Given the description of an element on the screen output the (x, y) to click on. 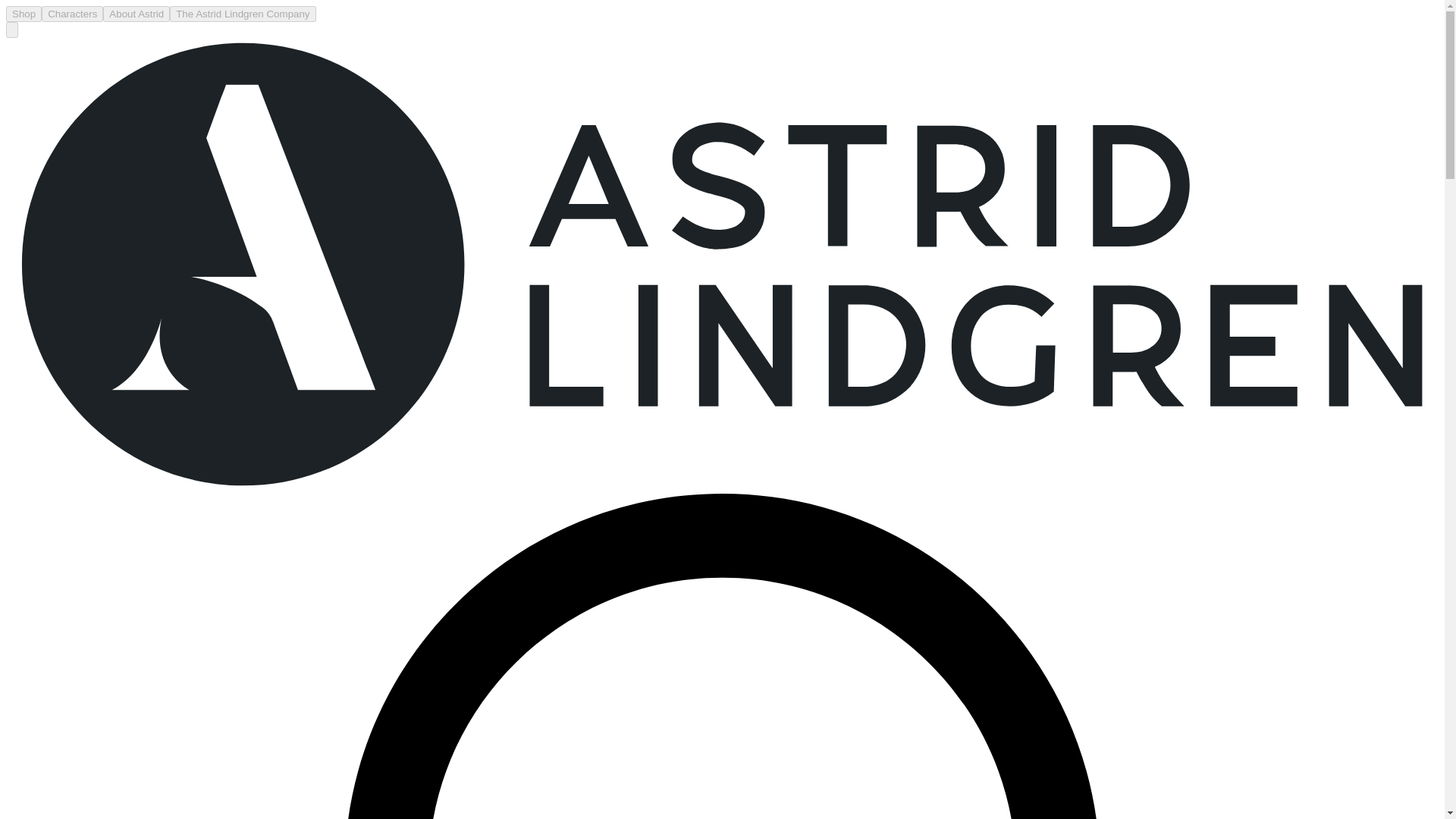
link to Characters (72, 13)
Characters (72, 13)
link to Shop (23, 13)
Shop (23, 13)
About Astrid (136, 13)
link to The Astrid Lindgren Company (242, 13)
link to About Astrid (136, 13)
The Astrid Lindgren Company (242, 13)
